Given the description of an element on the screen output the (x, y) to click on. 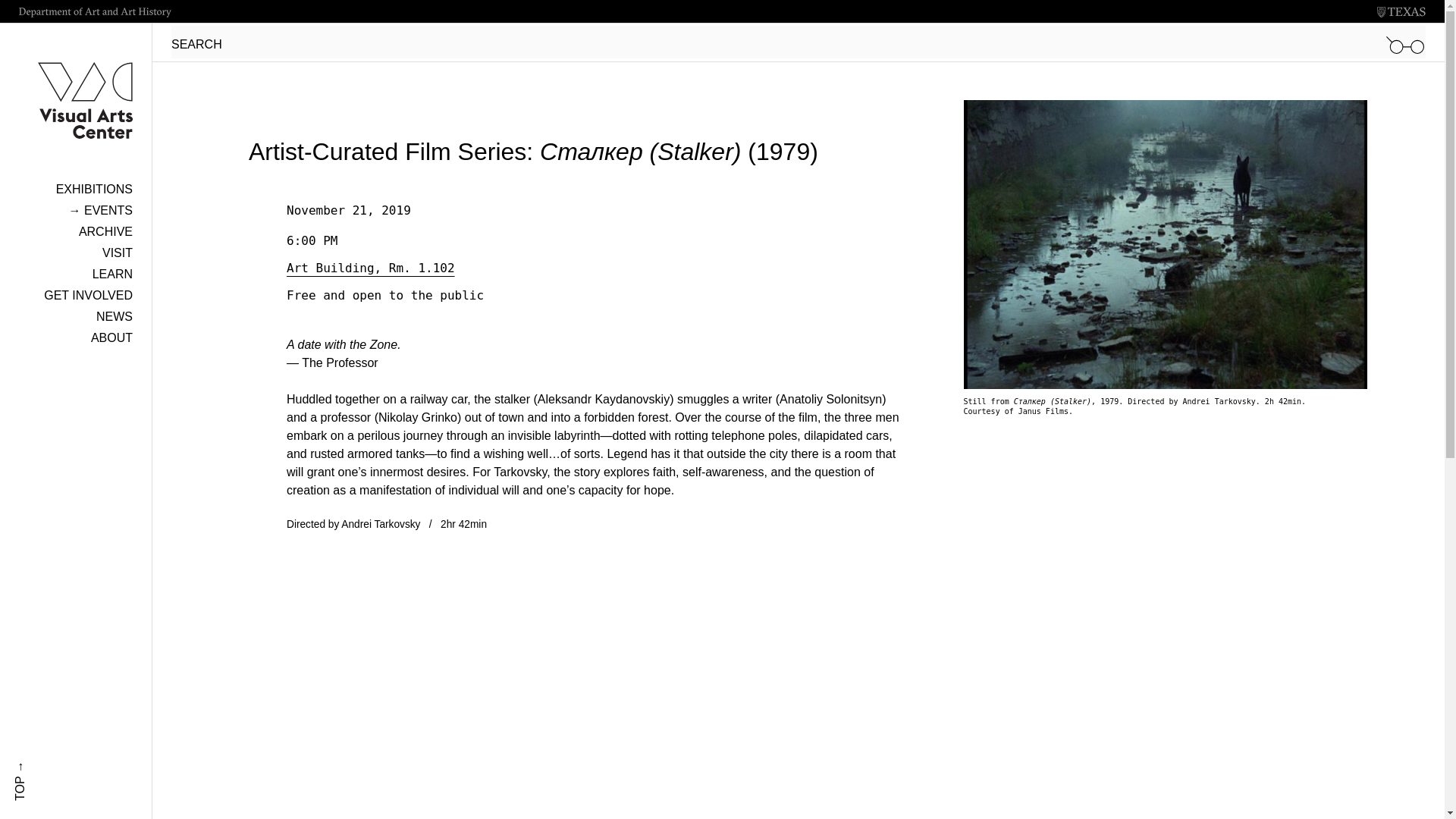
SEARCH (798, 41)
LEARN (112, 273)
NEWS (114, 316)
VISIT (116, 252)
SEARCH (798, 41)
GET INVOLVED (87, 295)
EXHIBITIONS (94, 188)
EVENTS (100, 210)
Home (75, 84)
